Given the description of an element on the screen output the (x, y) to click on. 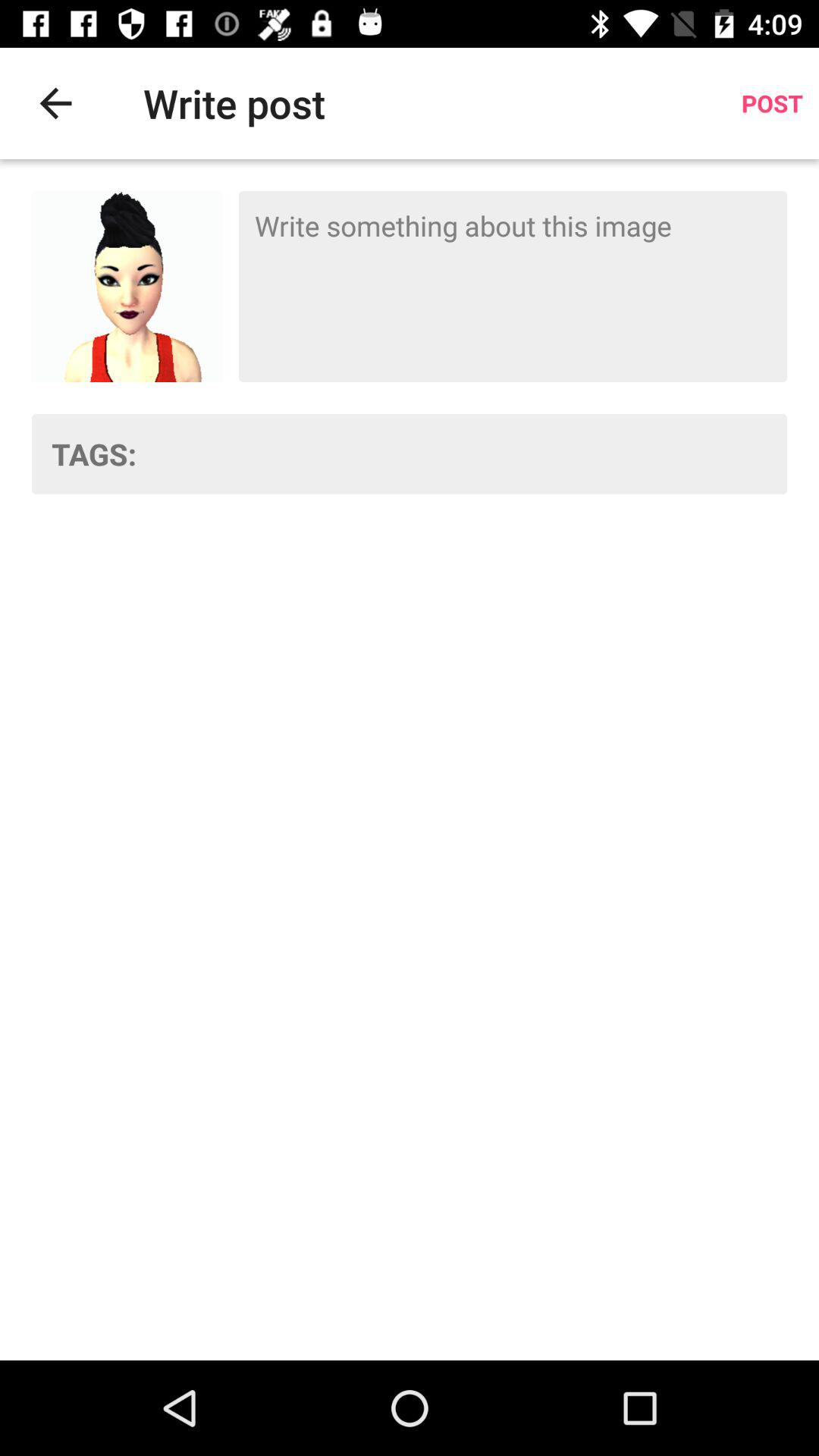
write tag words (471, 454)
